Given the description of an element on the screen output the (x, y) to click on. 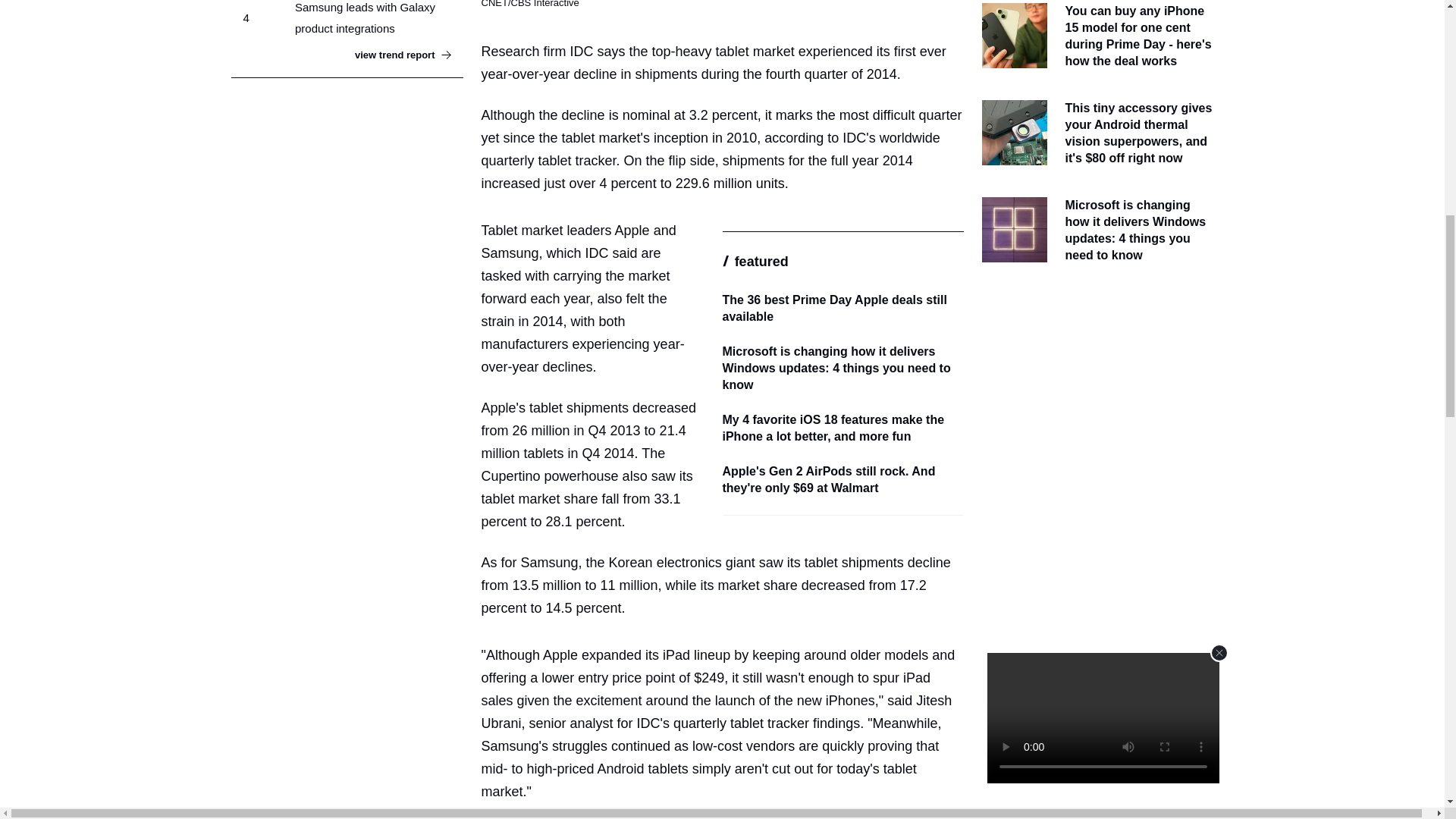
3rd party ad content (1097, 389)
